Given the description of an element on the screen output the (x, y) to click on. 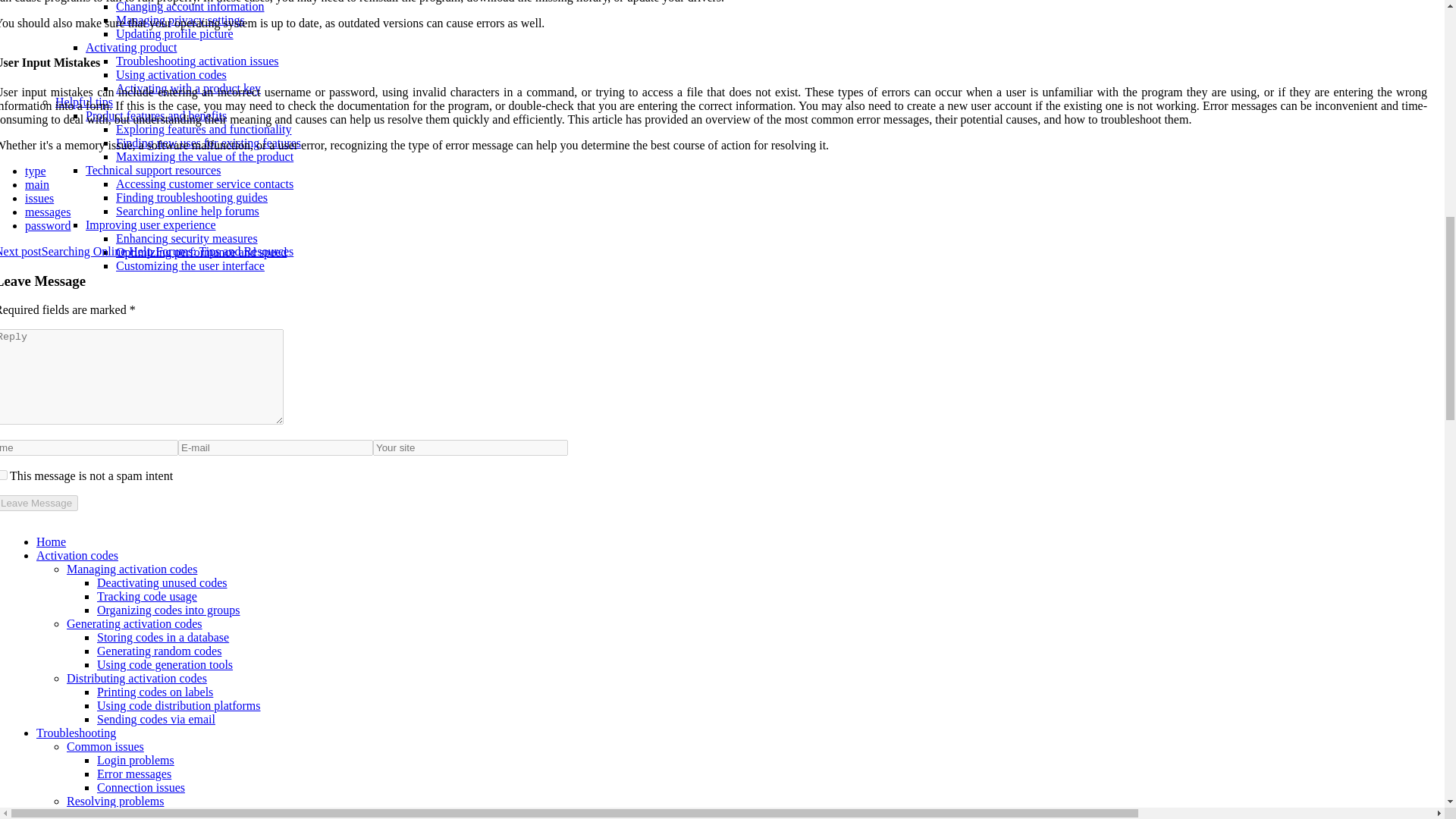
Leave Message (39, 503)
